Given the description of an element on the screen output the (x, y) to click on. 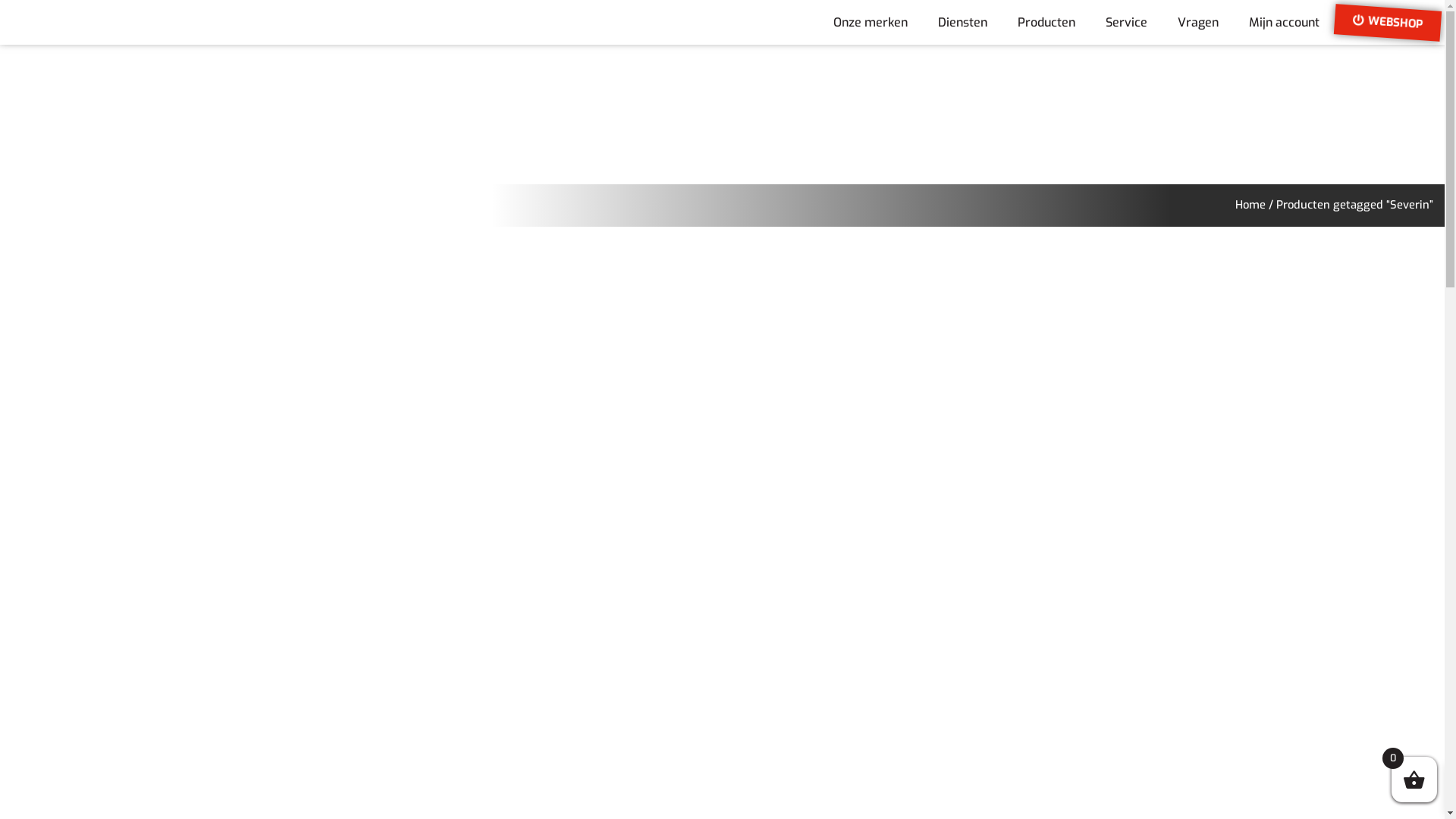
Mijn account Element type: text (1283, 22)
Diensten Element type: text (962, 22)
Service Element type: text (1126, 22)
Home Element type: text (1250, 204)
Onze merken Element type: text (870, 22)
WEBSHOP Element type: text (1386, 18)
Producten Element type: text (1046, 22)
Vragen Element type: text (1197, 22)
